Given the description of an element on the screen output the (x, y) to click on. 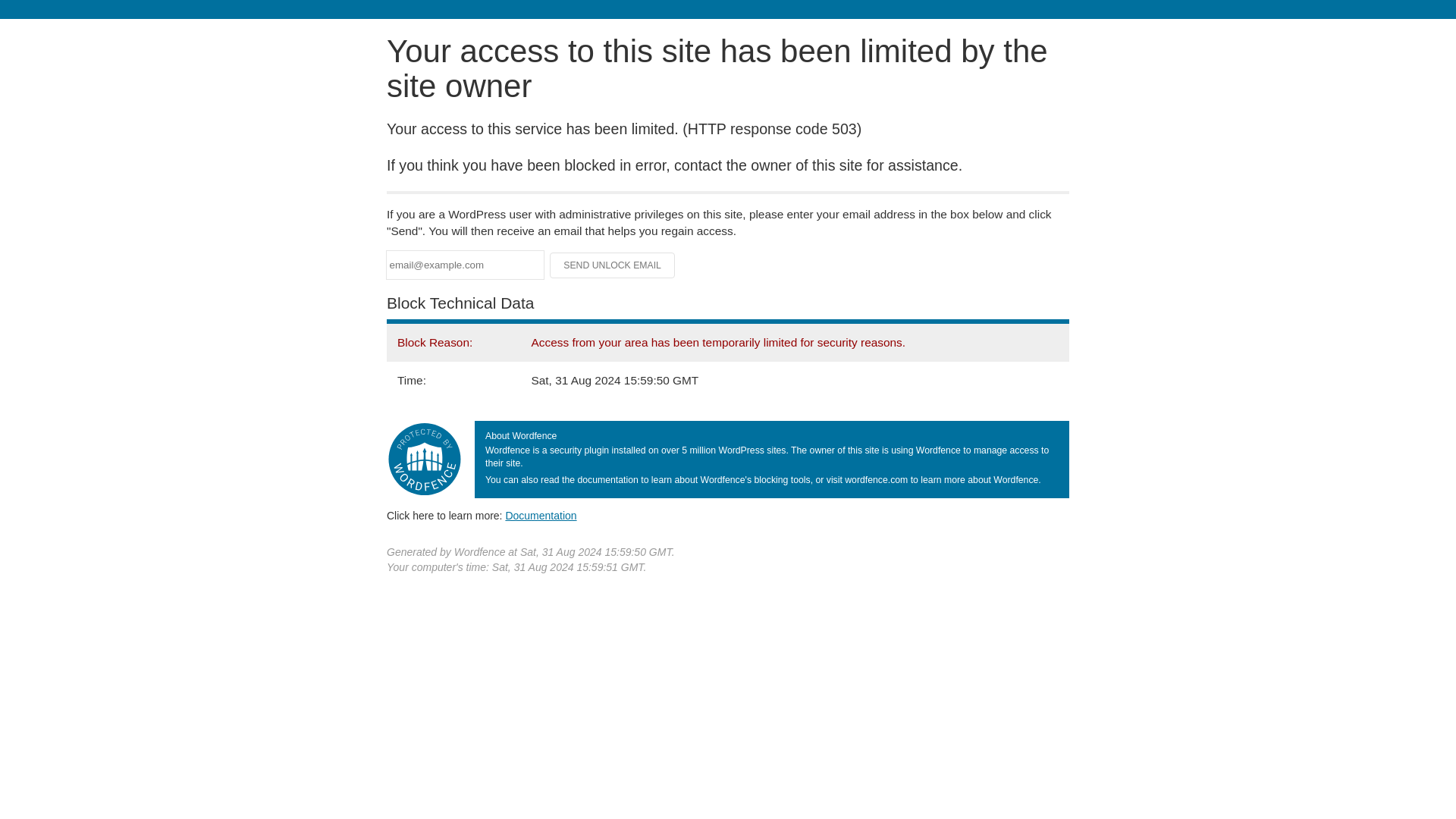
Send Unlock Email (612, 265)
Send Unlock Email (612, 265)
Documentation (540, 515)
